Given the description of an element on the screen output the (x, y) to click on. 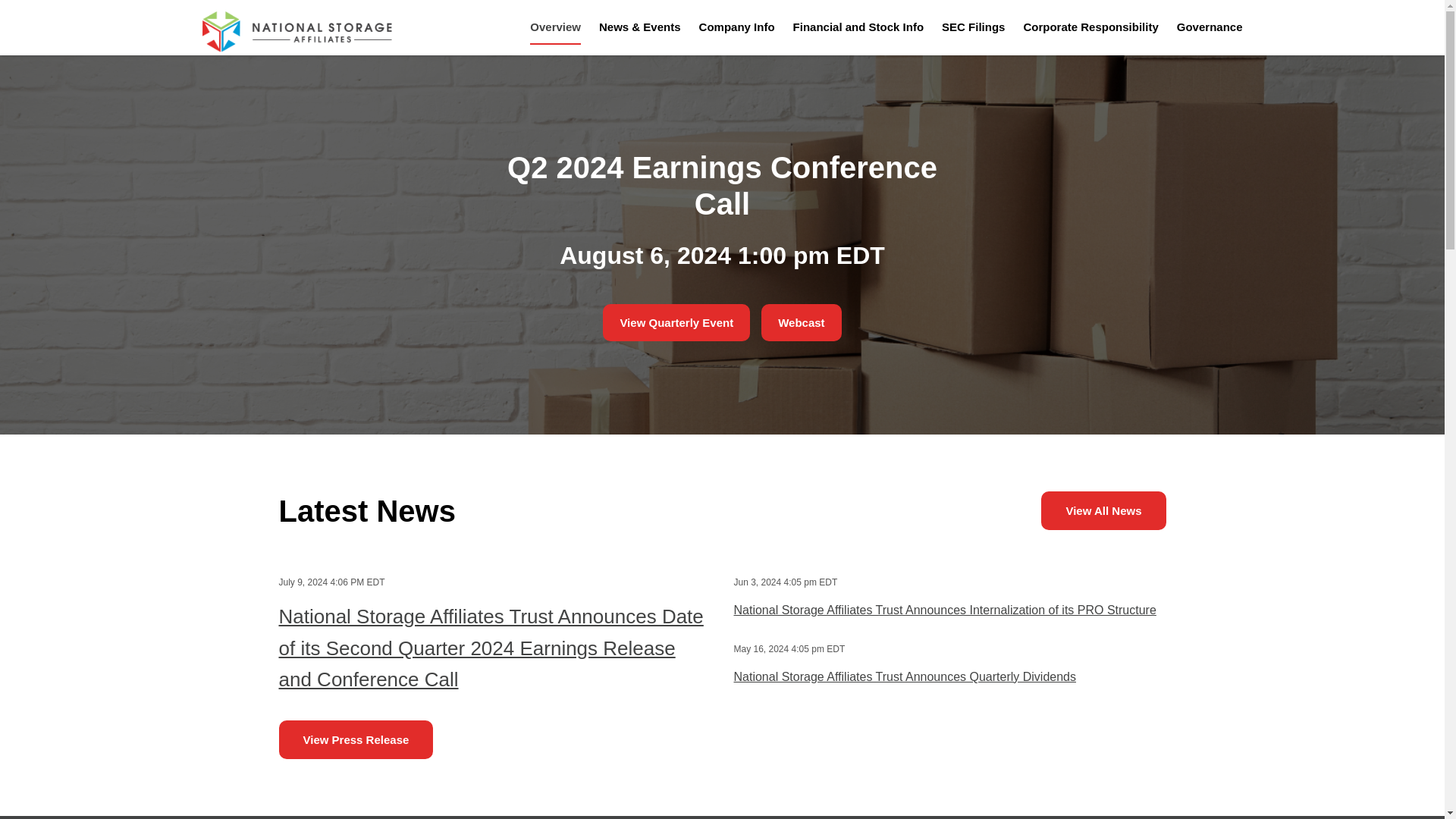
Overview (555, 36)
Opens in a new window (801, 321)
Corporate Responsibility (1090, 36)
Company Info (737, 36)
SEC Filings (973, 36)
Webcast (801, 321)
Main Navigation (881, 27)
Governance (1205, 36)
Financial and Stock Info (858, 36)
View Quarterly Event (675, 321)
View All News (1103, 510)
